Given the description of an element on the screen output the (x, y) to click on. 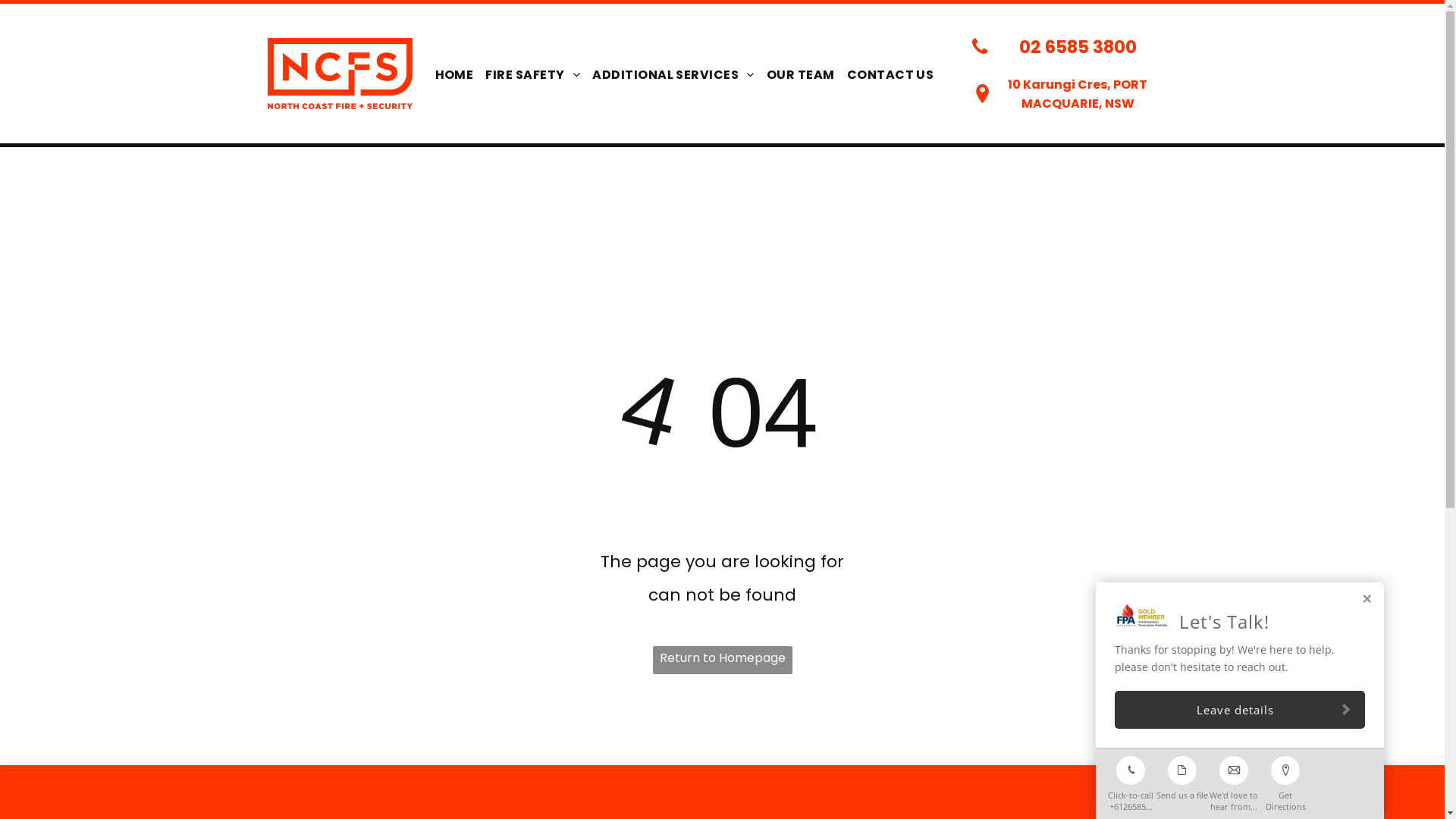
North Coast Fire & Security Element type: hover (338, 73)
02 6585 3800 Element type: text (1069, 46)
FIRE SAFETY Element type: text (532, 74)
CONTACT US Element type: text (890, 74)
10 Karungi Cres, PORT MACQUARIE, NSW Element type: text (1069, 93)
Click-to-call +6126585... Element type: text (1130, 780)
OUR TEAM Element type: text (800, 74)
Send us a file Element type: text (1182, 774)
ADDITIONAL SERVICES Element type: text (673, 74)
HOME Element type: text (454, 74)
Leave details Element type: text (1239, 709)
Get Directions Element type: text (1285, 780)
Return to Homepage Element type: text (721, 660)
We'd love to hear from... Element type: text (1233, 780)
